Given the description of an element on the screen output the (x, y) to click on. 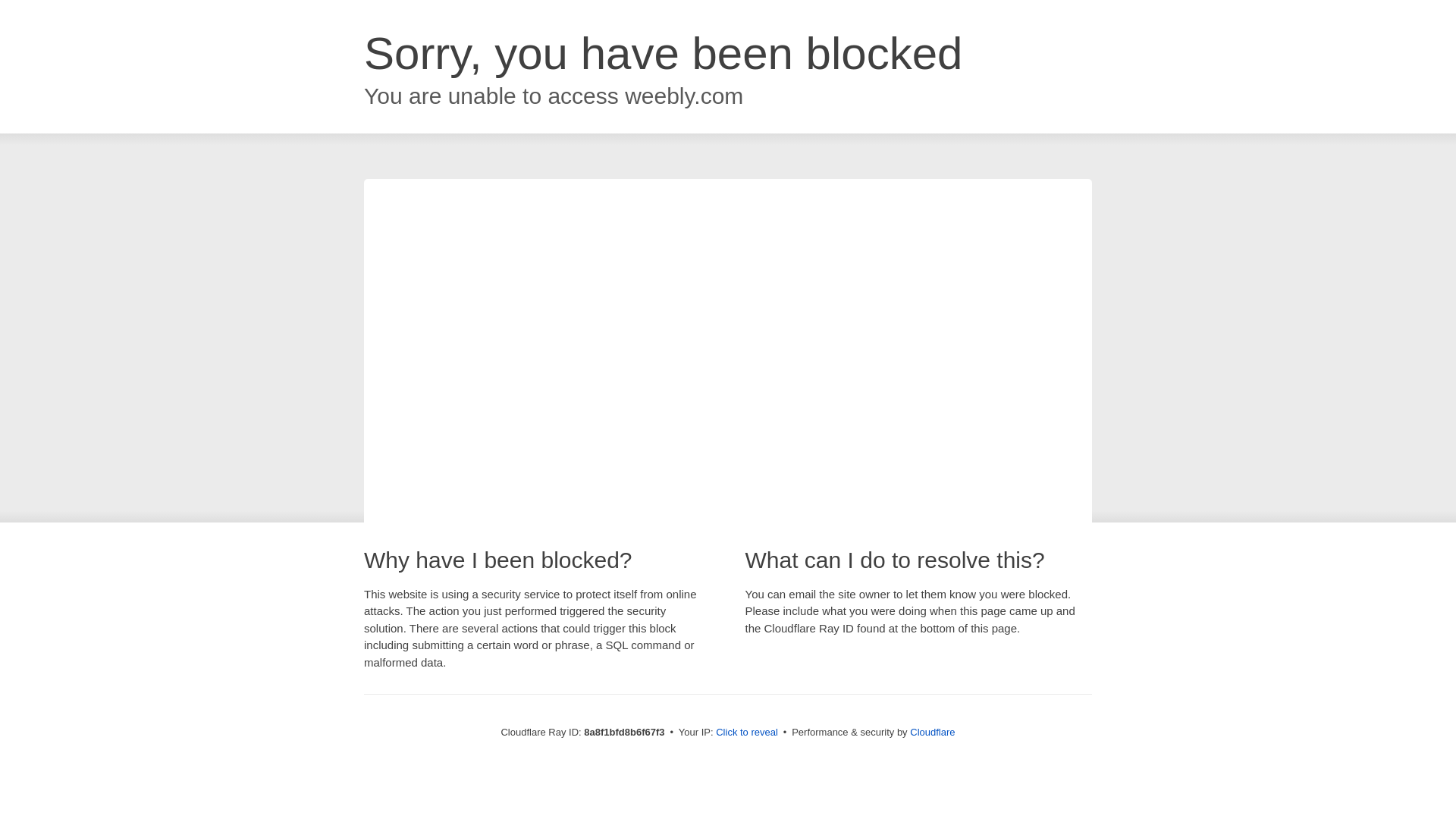
Cloudflare (932, 731)
Click to reveal (746, 732)
